Given the description of an element on the screen output the (x, y) to click on. 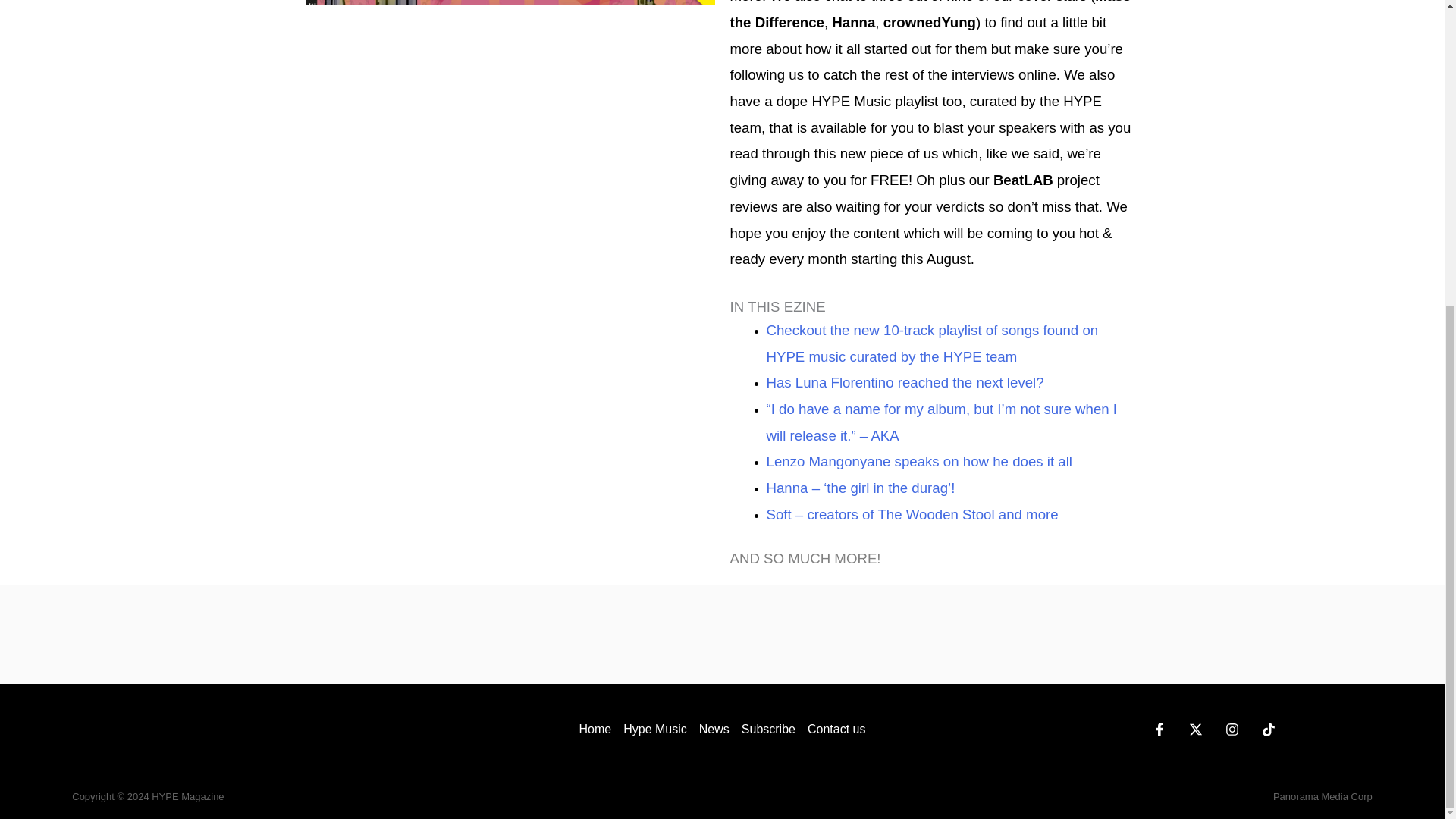
Has Luna Florentino reached the next level? (904, 382)
Lenzo Mangonyane speaks on how he does it all (918, 461)
